Given the description of an element on the screen output the (x, y) to click on. 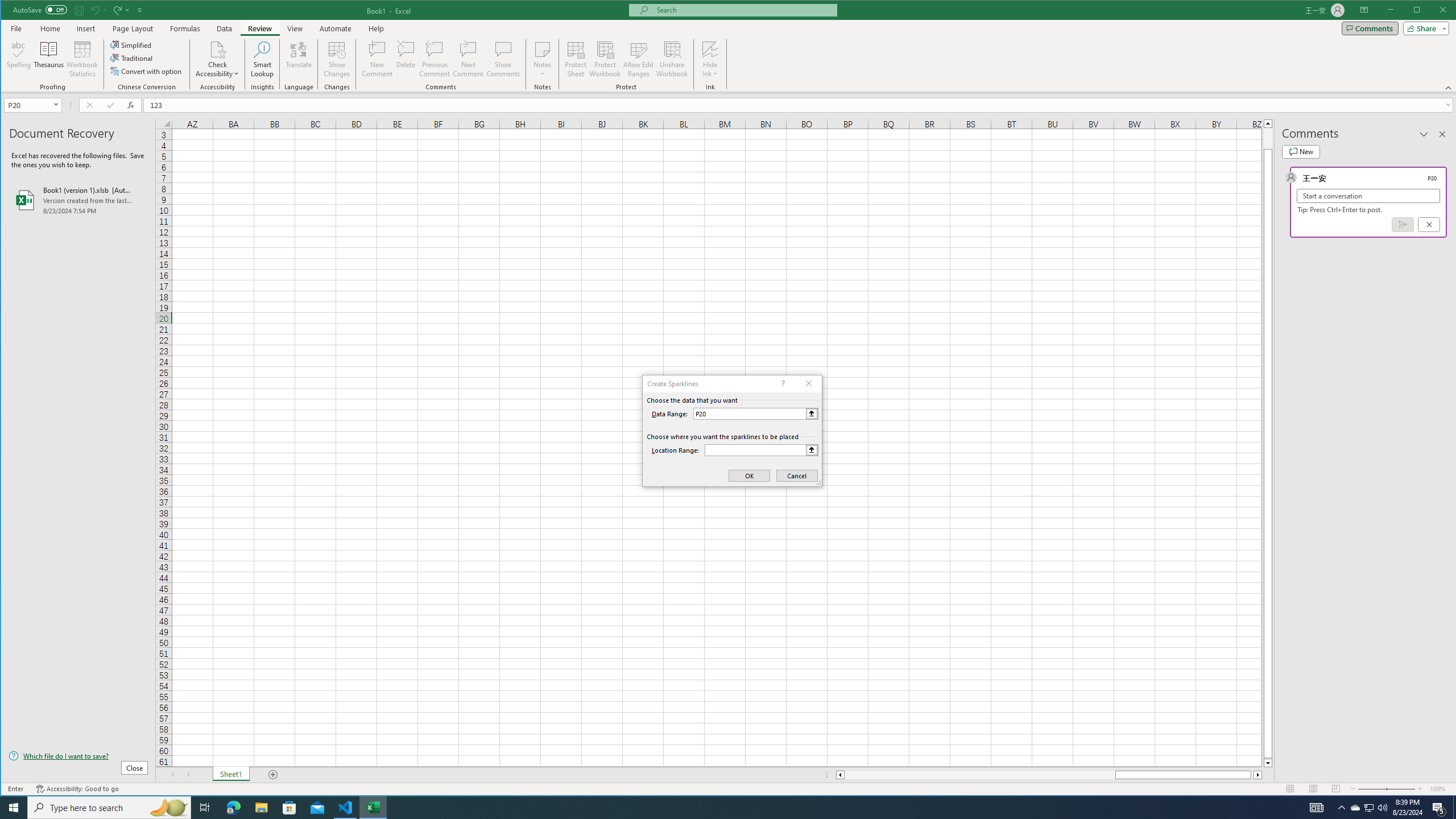
Spelling... (18, 59)
Traditional (132, 57)
Simplified (132, 44)
